Given the description of an element on the screen output the (x, y) to click on. 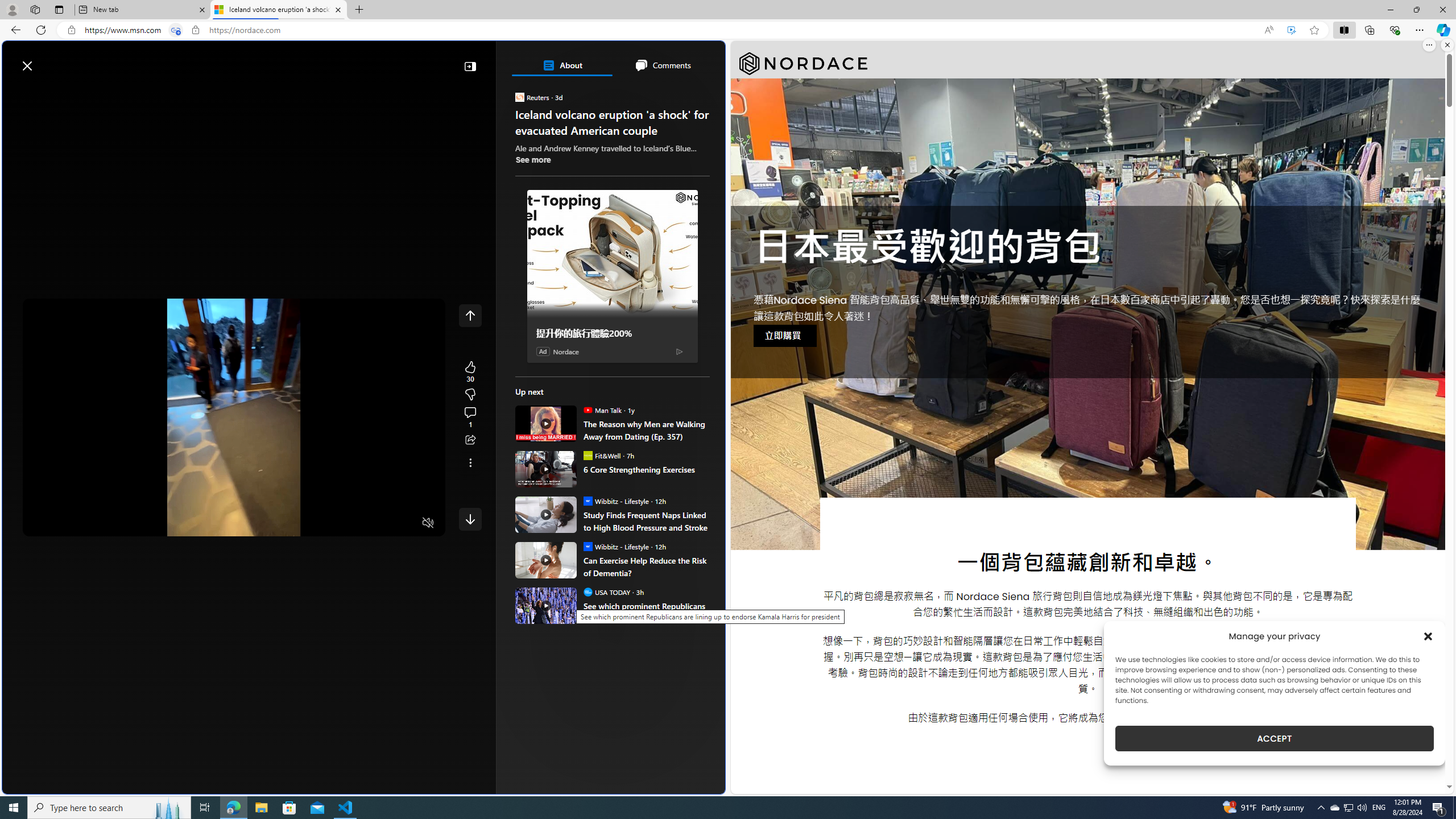
Seek Forward (85, 523)
Love dogs? We do, too. (616, 219)
Can Exercise Help Reduce the Risk of Dementia? (545, 559)
Class: cmplz-close (1428, 636)
Tabs in split screen (175, 29)
